Given the description of an element on the screen output the (x, y) to click on. 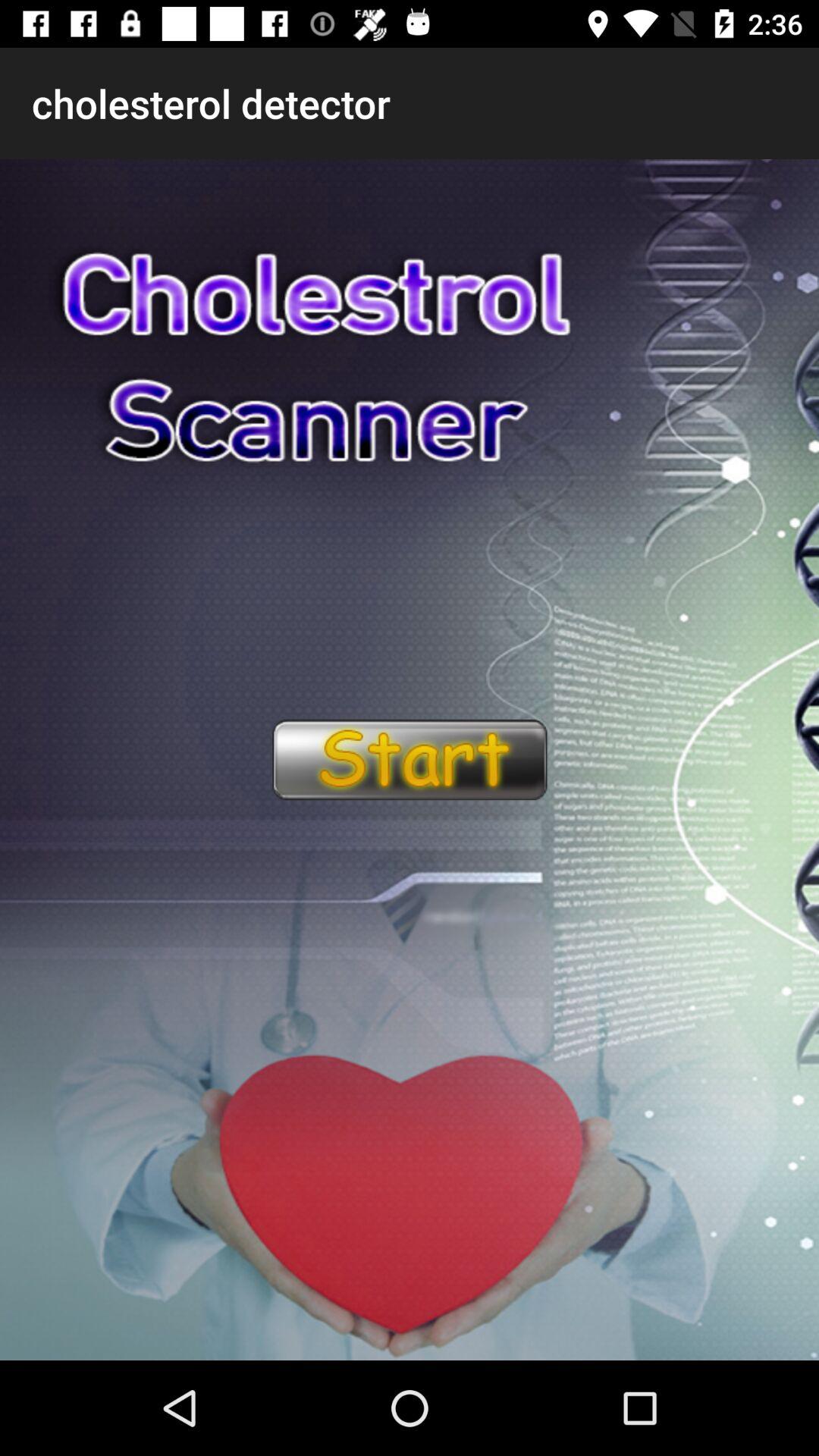
start (409, 759)
